Given the description of an element on the screen output the (x, y) to click on. 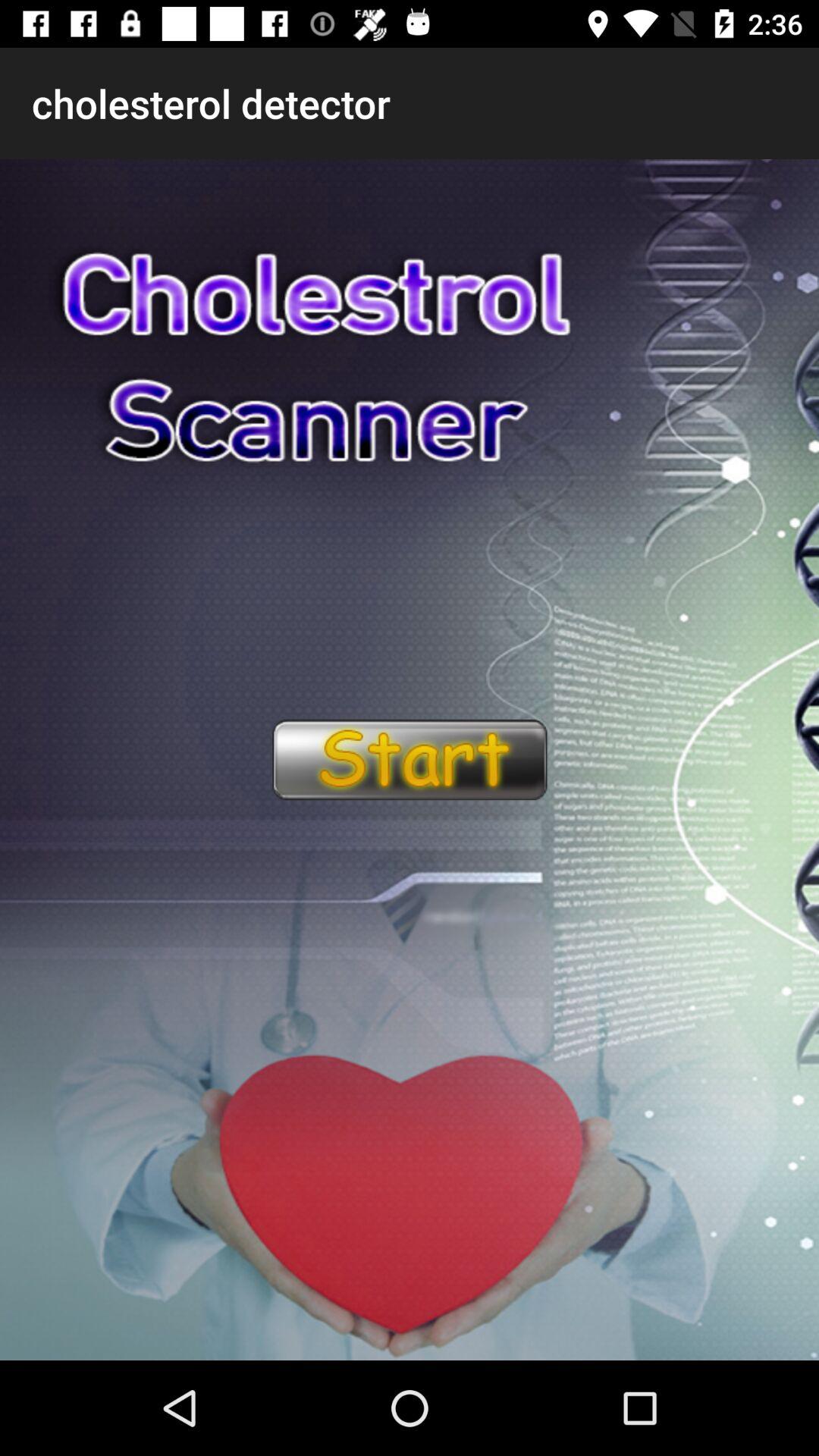
start (409, 759)
